Given the description of an element on the screen output the (x, y) to click on. 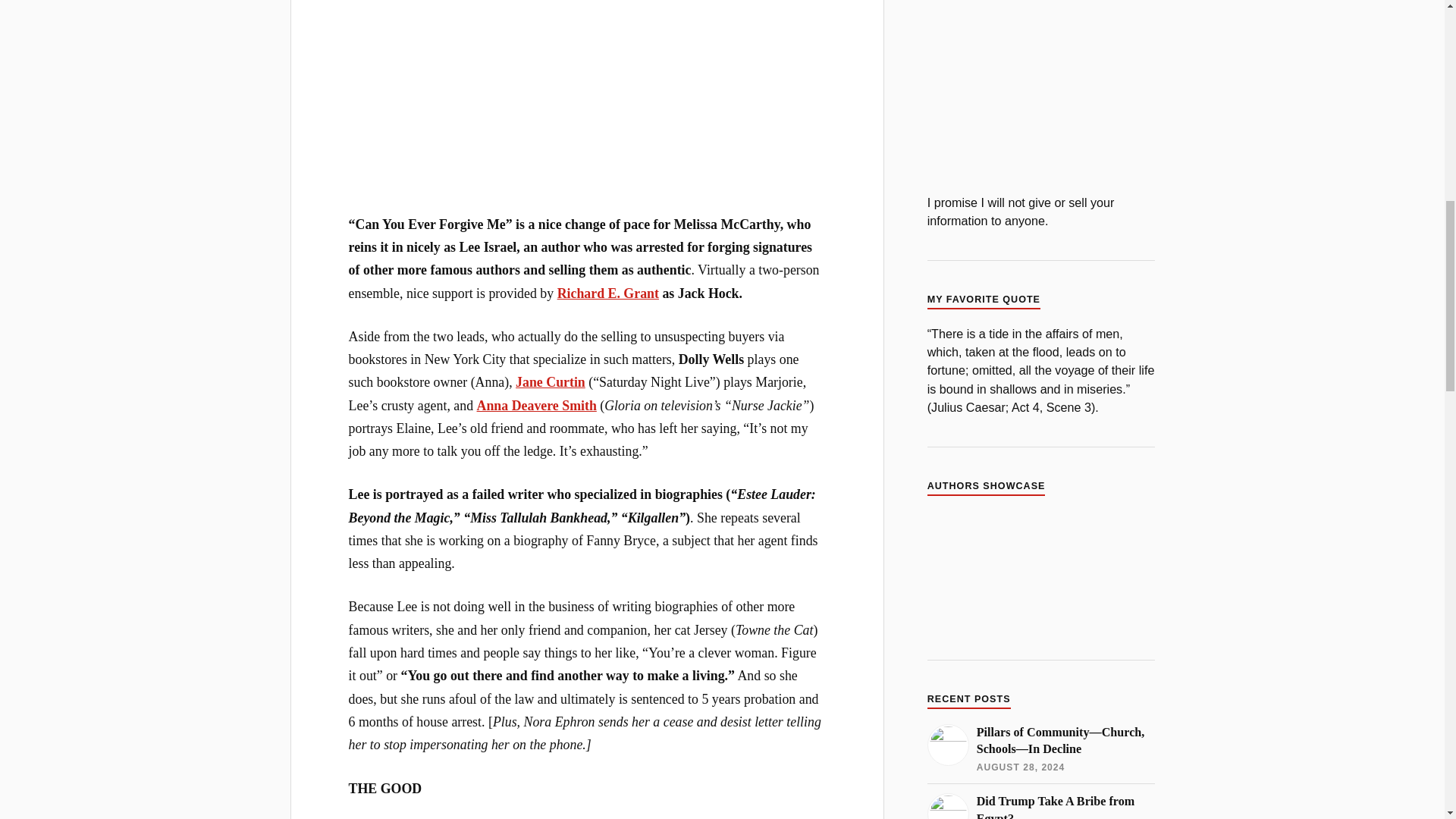
Richard E. Grant (608, 293)
Anna Deavere Smith (536, 405)
Jane Curtin (550, 381)
